Given the description of an element on the screen output the (x, y) to click on. 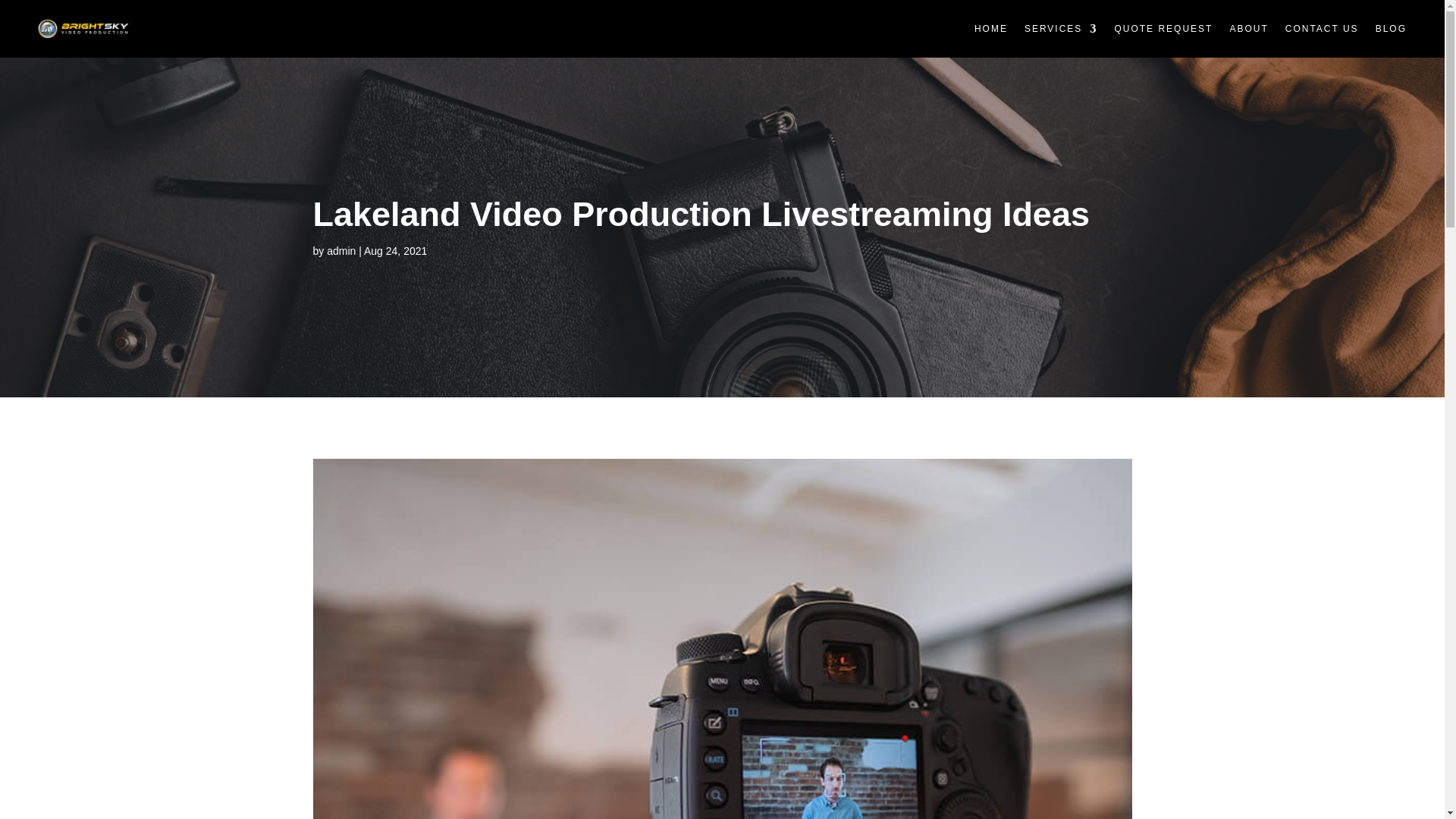
admin (340, 250)
SERVICES (1061, 28)
CONTACT US (1321, 28)
Posts by admin (340, 250)
QUOTE REQUEST (1162, 28)
